Given the description of an element on the screen output the (x, y) to click on. 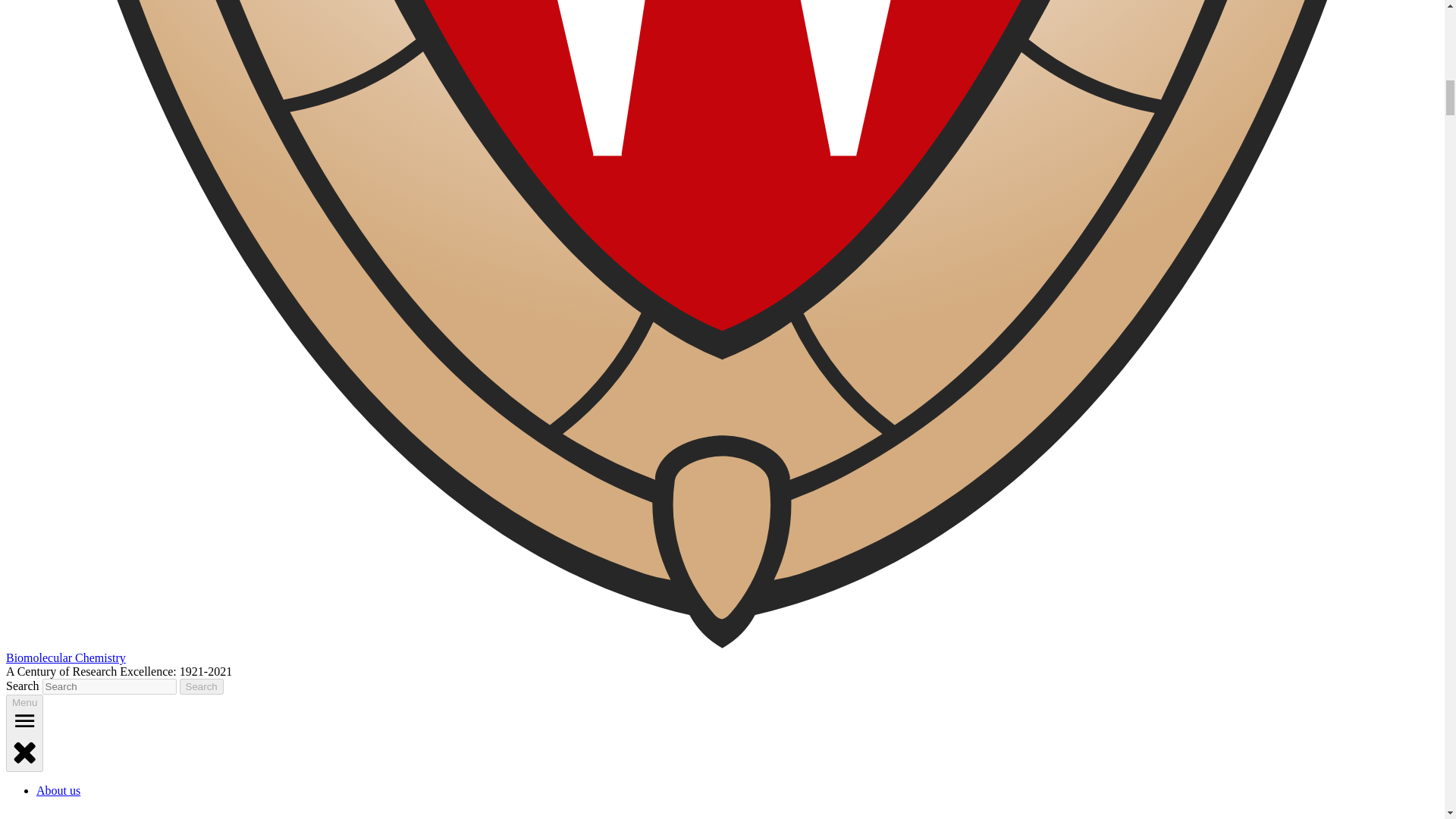
Search (201, 686)
Search (201, 686)
Menu open menu close (24, 733)
Biomolecular Chemistry (65, 657)
close (24, 751)
Search (201, 686)
open menu (24, 720)
